Given the description of an element on the screen output the (x, y) to click on. 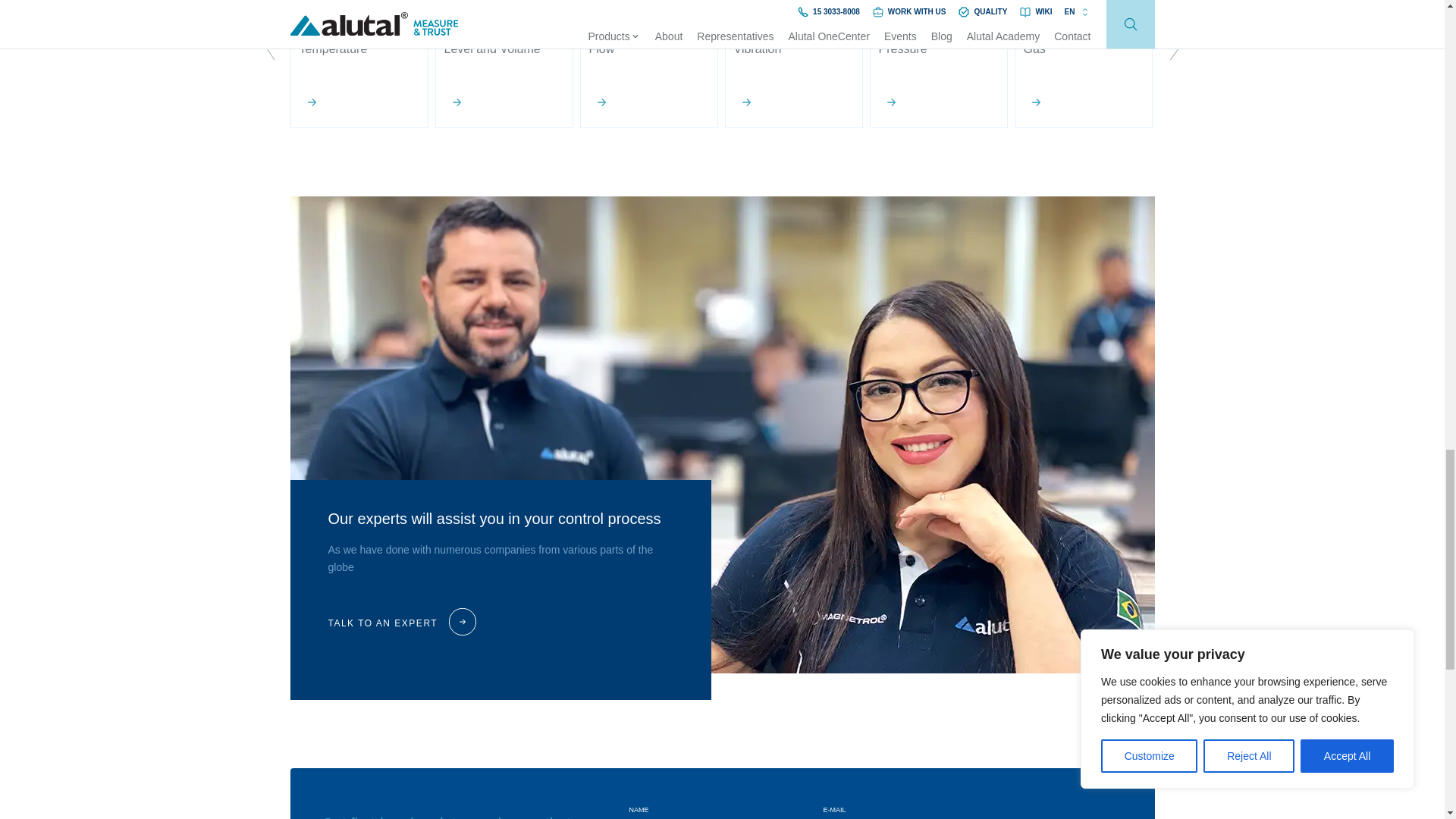
Temperature (358, 63)
Vibration (794, 63)
Gas (1083, 63)
Pressure (938, 63)
Level and Volume (504, 63)
Flow (648, 63)
